Given the description of an element on the screen output the (x, y) to click on. 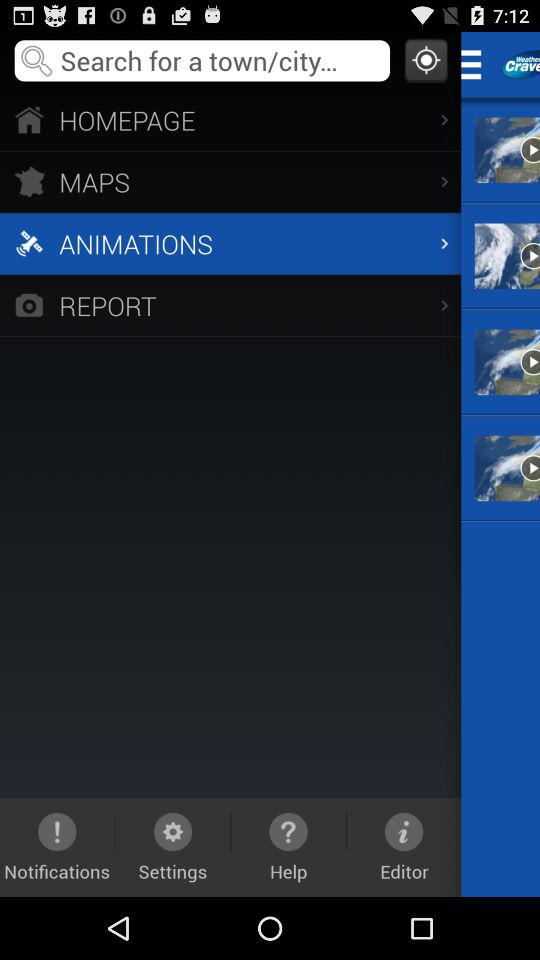
turn off app to the right of homepage item (477, 63)
